Given the description of an element on the screen output the (x, y) to click on. 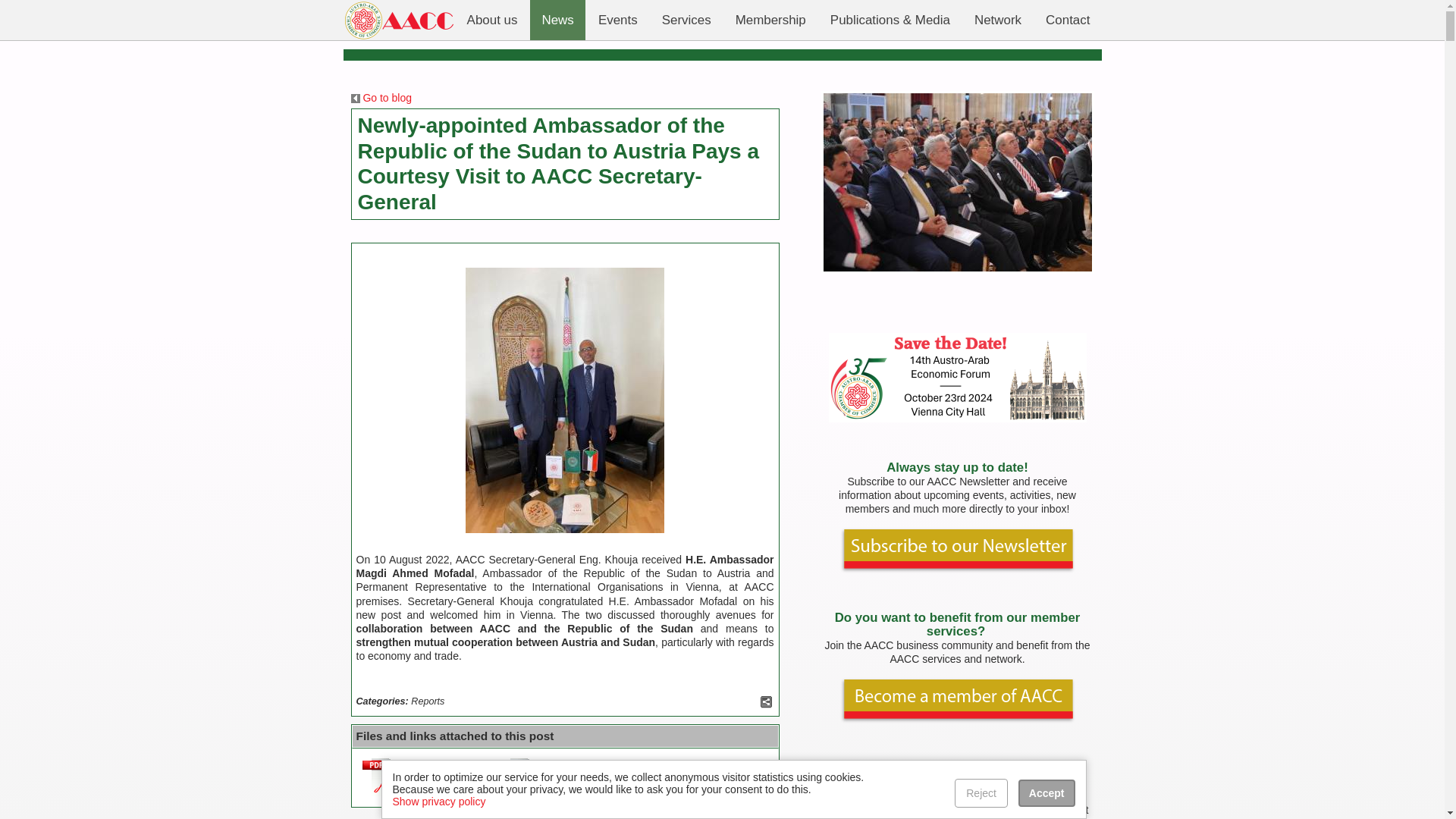
go to services (924, 658)
Reject (981, 792)
Membership (769, 20)
News (557, 20)
How to become a member (957, 719)
Services (686, 20)
AACC 35th Anniversary (957, 418)
Accept (1046, 792)
Network (997, 20)
Events (617, 20)
Show privacy policy (439, 801)
About us (492, 20)
Recommend blog post (765, 702)
